Given the description of an element on the screen output the (x, y) to click on. 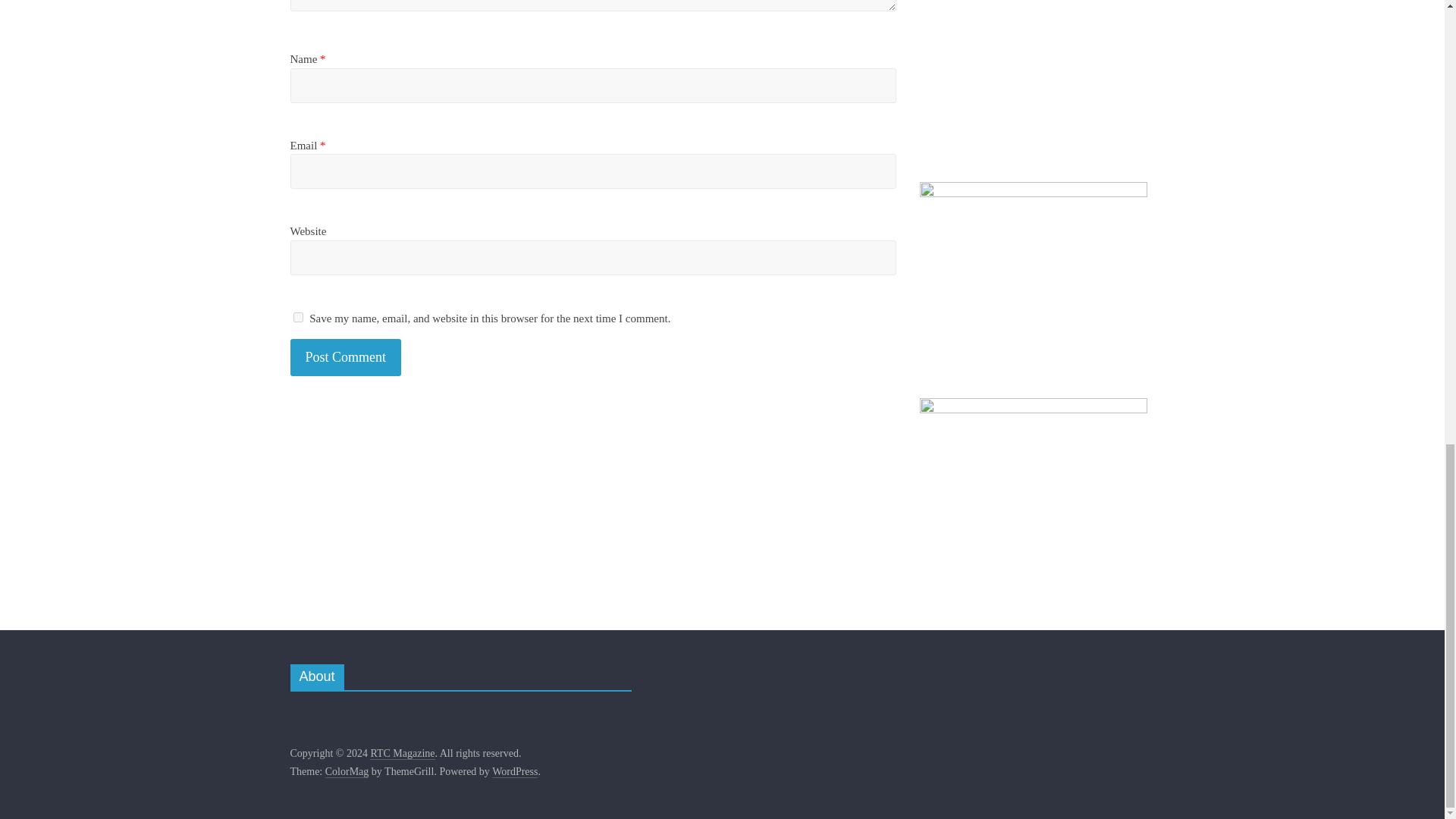
ColorMag (346, 771)
RTC Magazine (401, 753)
RTC Magazine (401, 753)
Post Comment (345, 357)
ColorMag (346, 771)
Post Comment (345, 357)
WordPress (514, 771)
yes (297, 317)
WordPress (514, 771)
